Given the description of an element on the screen output the (x, y) to click on. 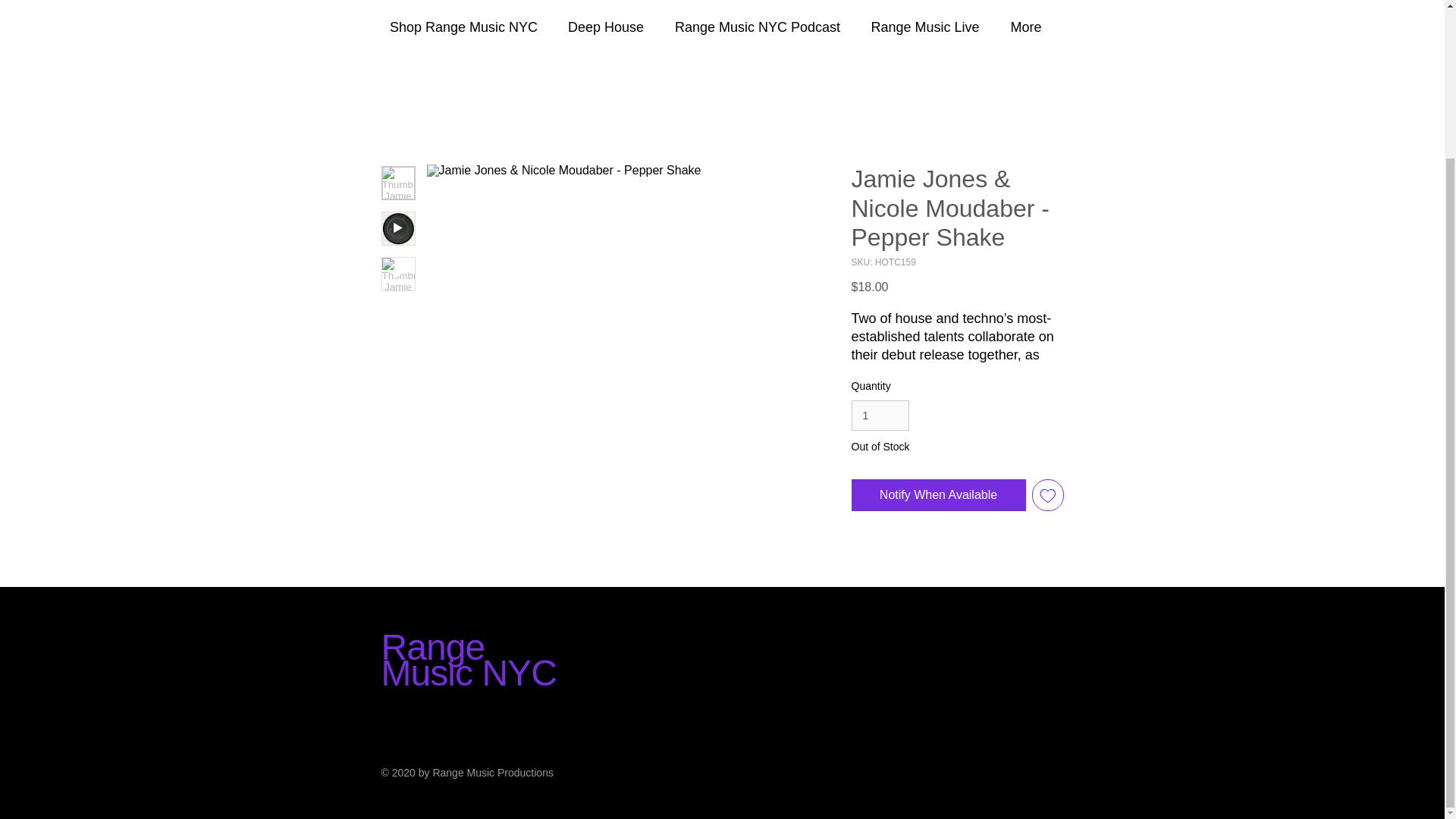
Deep House (605, 27)
Range Music Live (925, 27)
Notify When Available (937, 495)
Do Not Sell My Personal Information (951, 607)
Shop Range Music NYC (462, 27)
1 (879, 415)
Range Music NYC Podcast (757, 27)
